Given the description of an element on the screen output the (x, y) to click on. 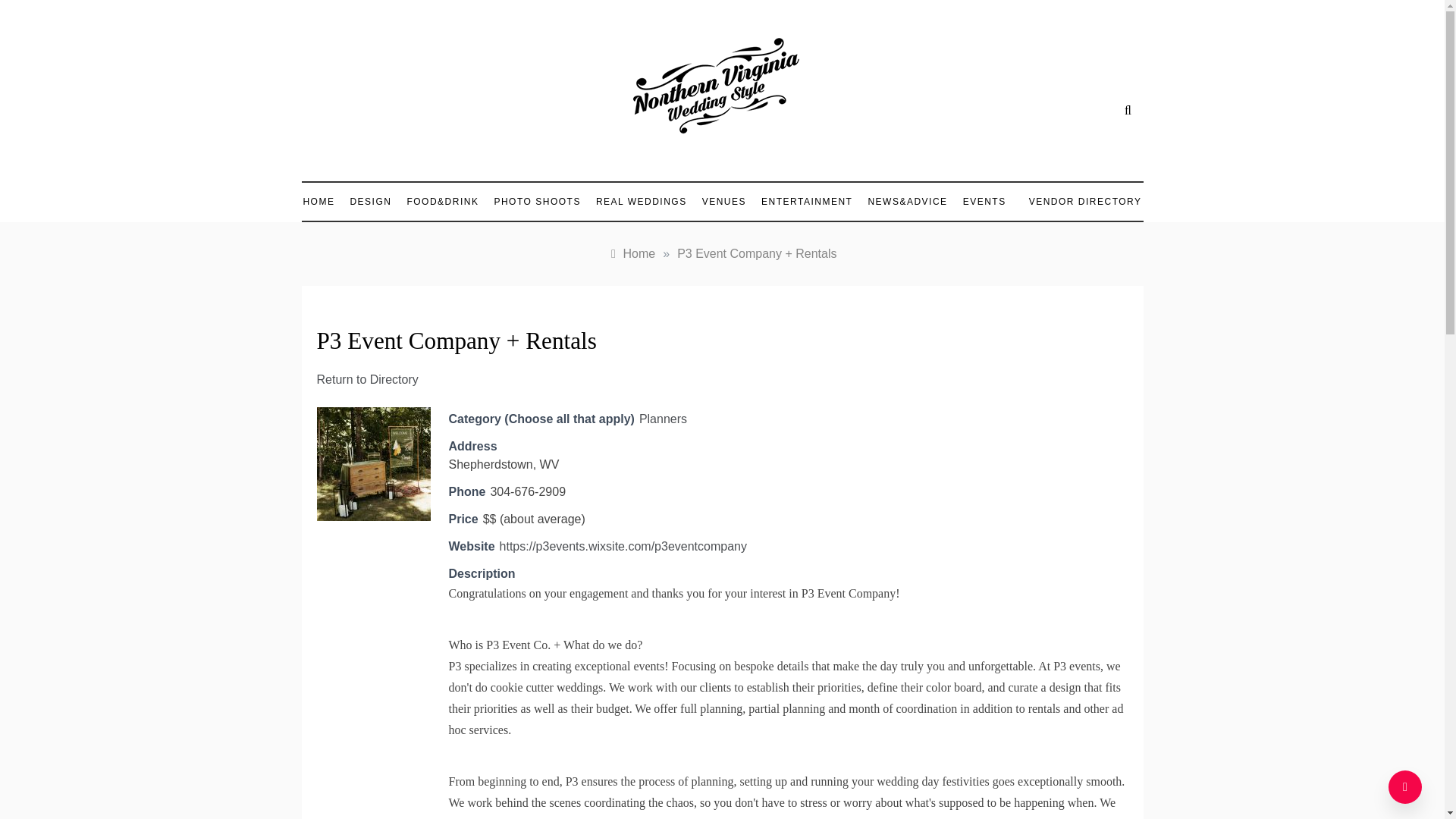
Welcome heading to ceremony (373, 463)
EVENTS (984, 201)
REAL WEDDINGS (641, 201)
Planners (663, 418)
DESIGN (370, 201)
Welcome heading to ceremony (373, 462)
Return to Directory (368, 379)
PHOTO SHOOTS (537, 201)
VENDOR DIRECTORY (1077, 201)
